Given the description of an element on the screen output the (x, y) to click on. 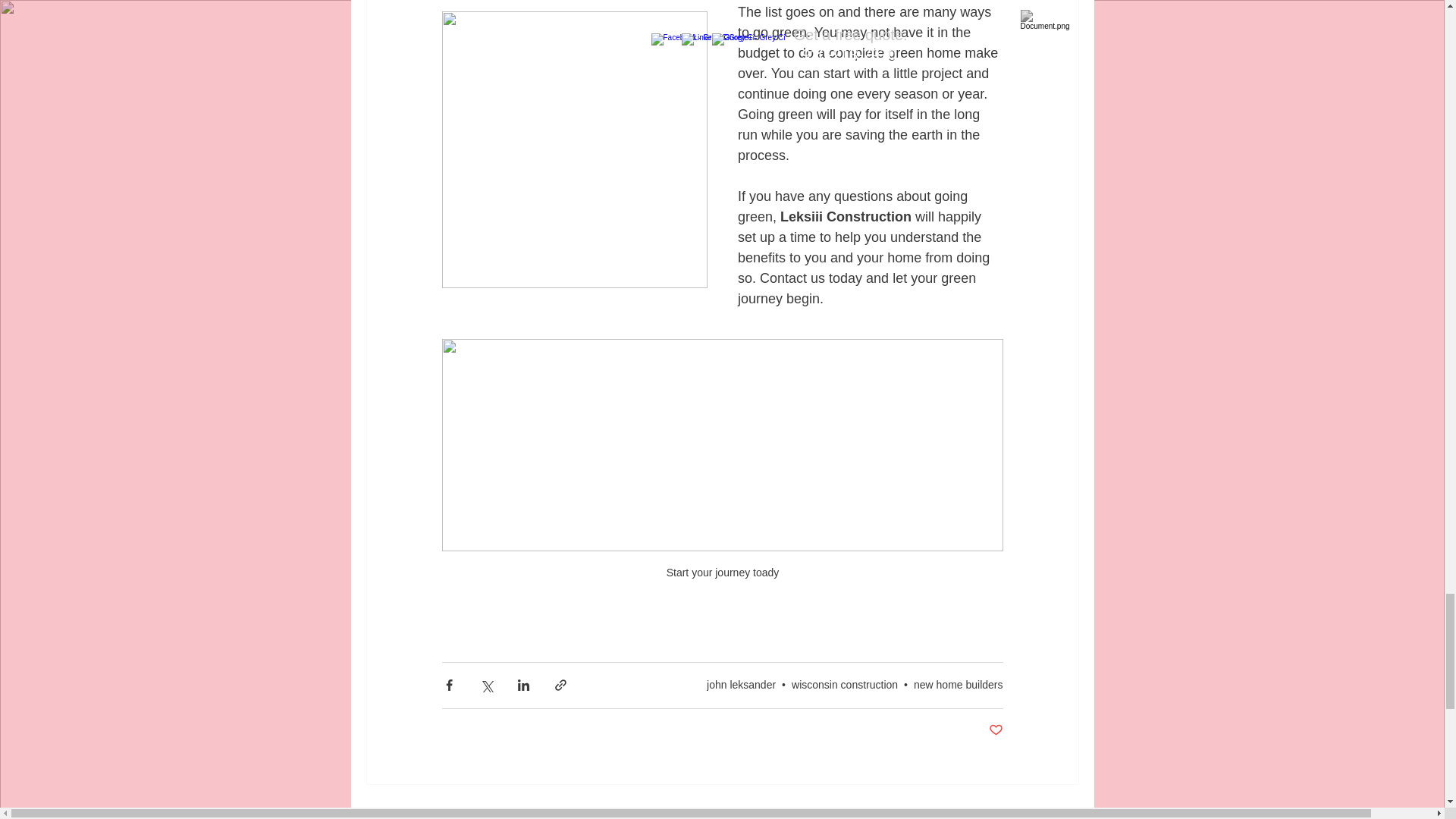
john leksander (741, 684)
wisconsin construction (845, 684)
See All (1061, 810)
Post not marked as liked (995, 730)
new home builders (958, 684)
